Given the description of an element on the screen output the (x, y) to click on. 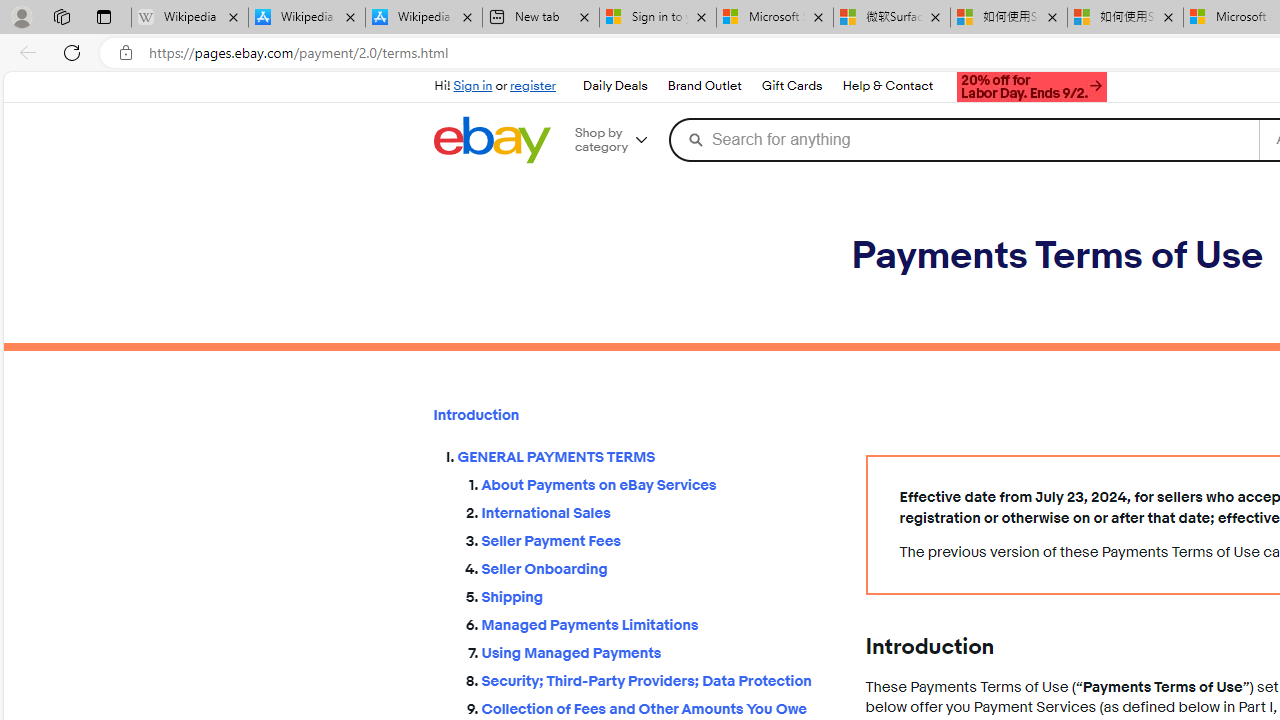
Introduction (633, 415)
Managed Payments Limitations (657, 624)
Collection of Fees and Other Amounts You Owe (657, 709)
register (532, 85)
Using Managed Payments (657, 652)
Search for anything (962, 139)
Managed Payments Limitations (657, 620)
Help & Contact (888, 86)
Seller Onboarding (657, 565)
eBay Home (491, 139)
Help & Contact (886, 85)
